Given the description of an element on the screen output the (x, y) to click on. 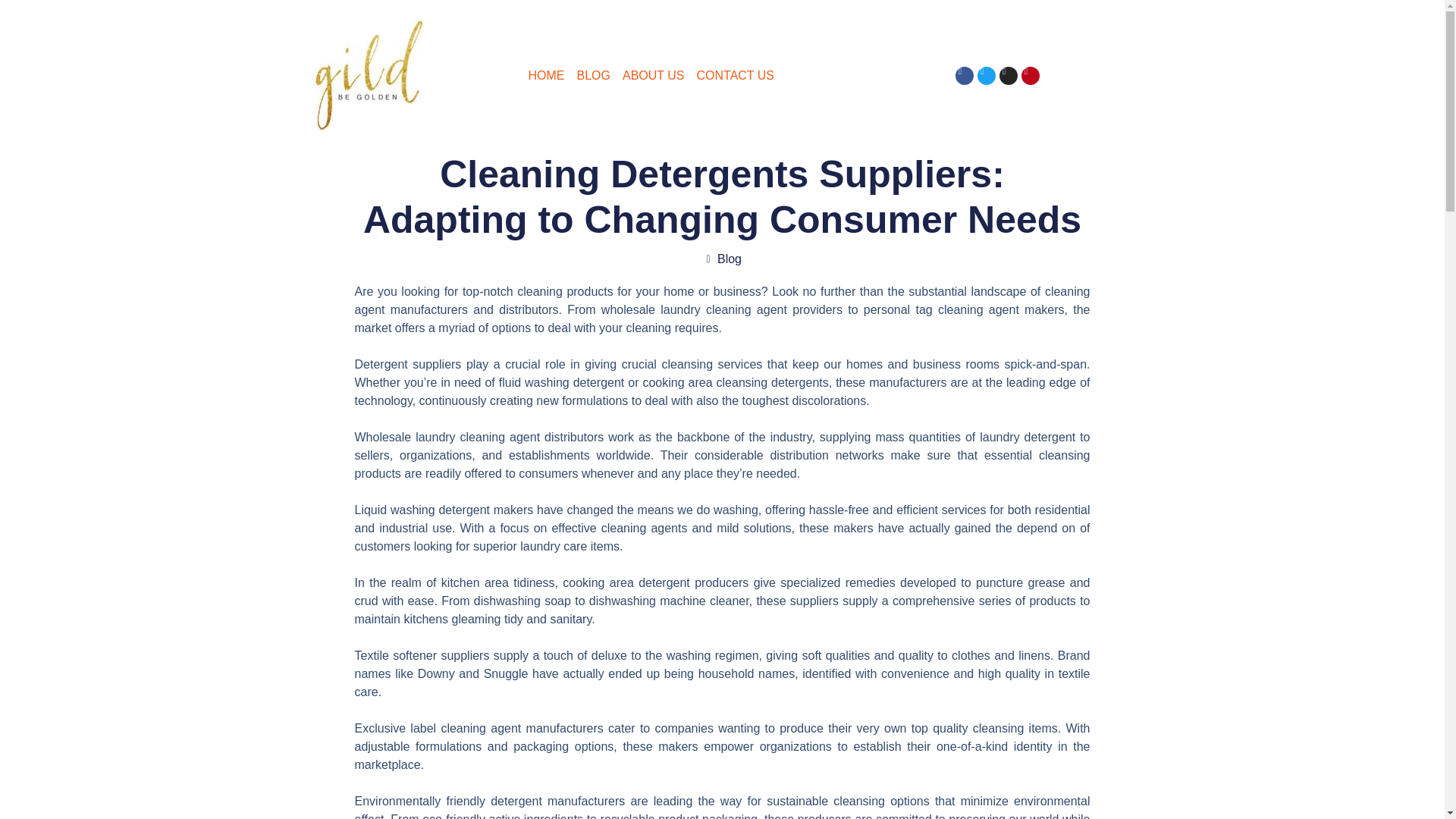
Blog (729, 258)
ABOUT US (653, 75)
HOME (546, 75)
BLOG (593, 75)
CONTACT US (734, 75)
